Given the description of an element on the screen output the (x, y) to click on. 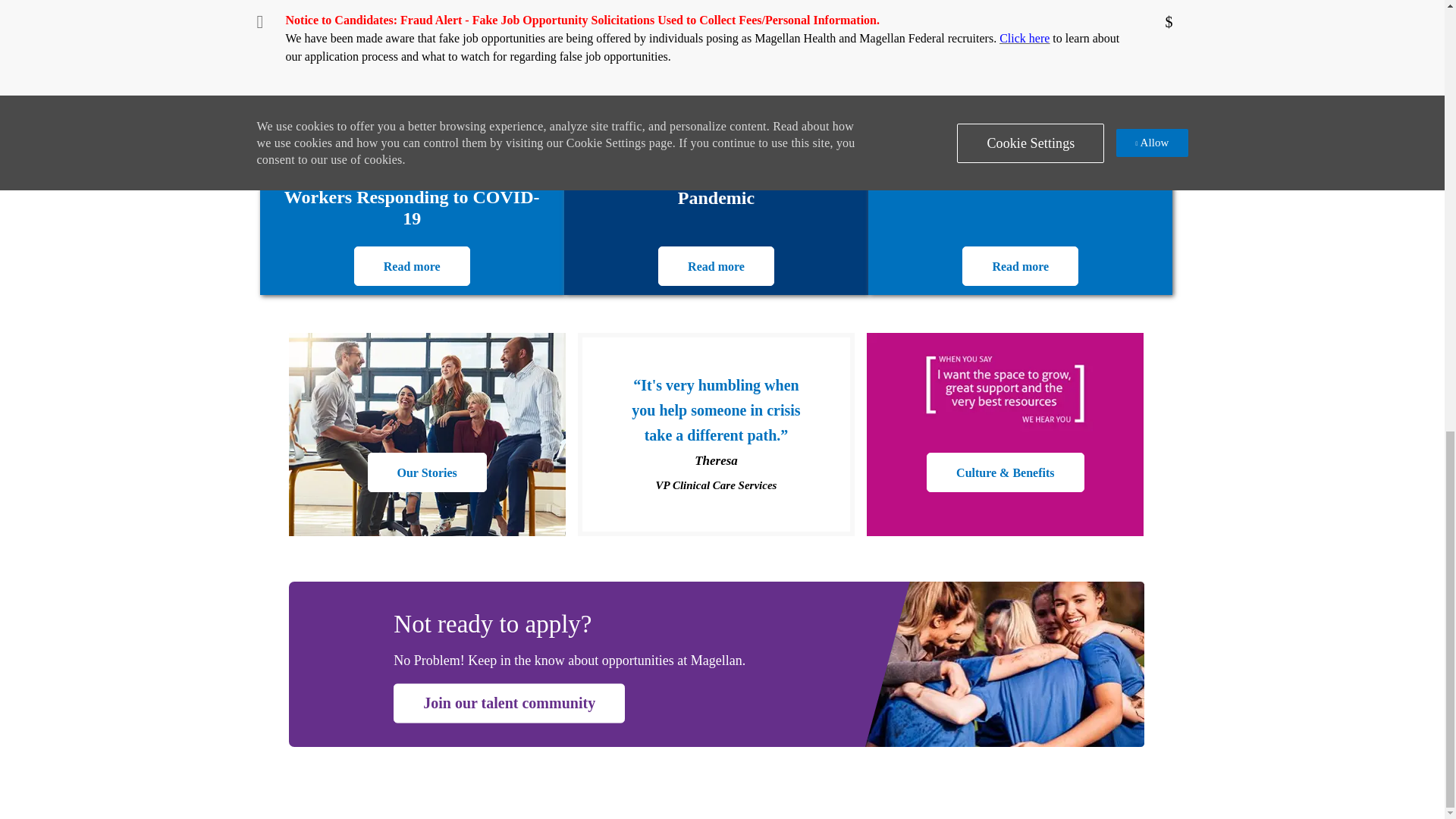
Join our talent community (508, 703)
Culture and Benefits (1004, 472)
Our Stories (427, 472)
Our Stories (427, 472)
Read more (1020, 265)
Read more (411, 265)
Read more (716, 265)
